Given the description of an element on the screen output the (x, y) to click on. 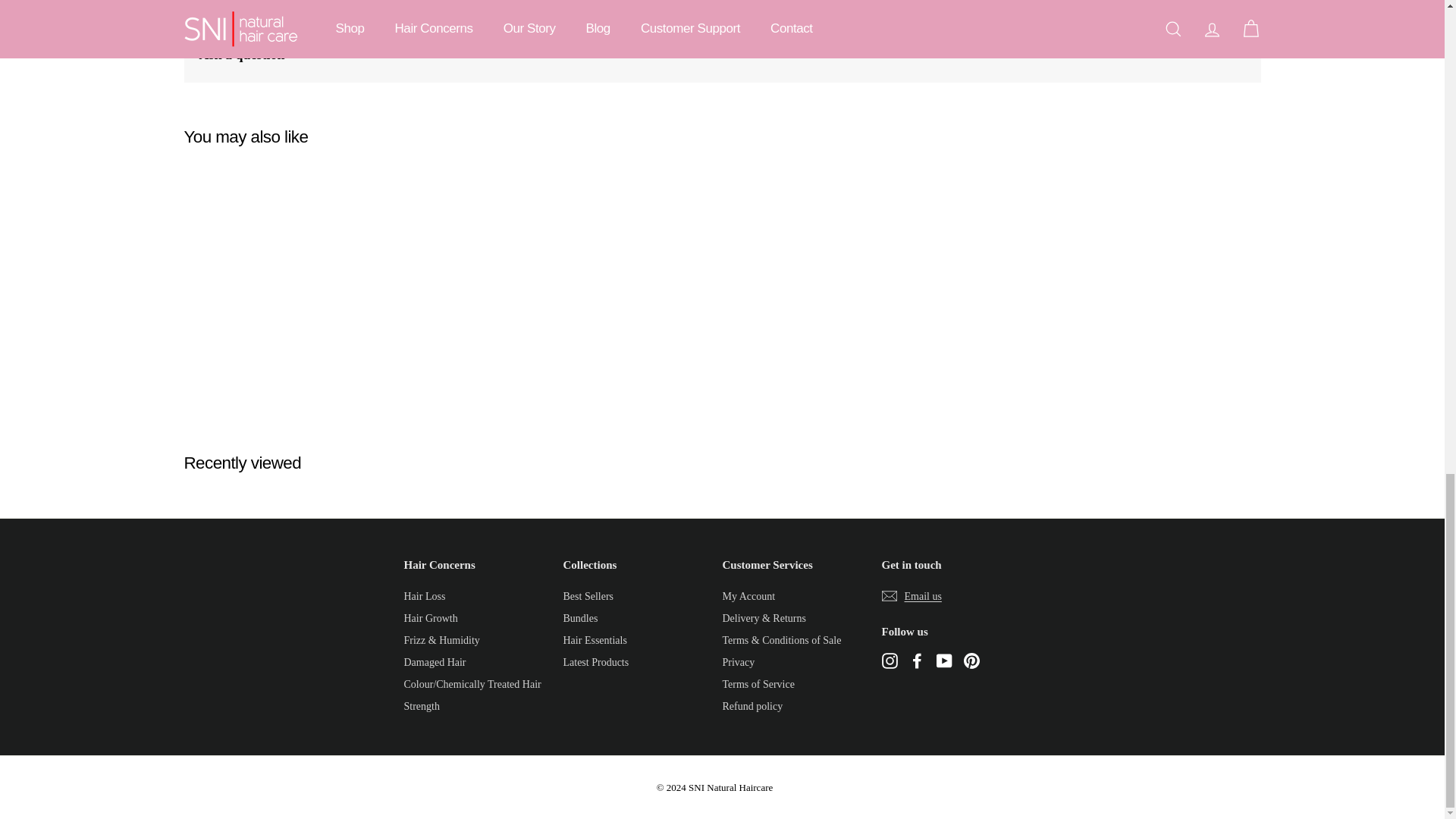
SNI Natural Haircare on Instagram (888, 660)
SNI Natural Haircare on Facebook (916, 660)
SNI Natural Haircare on YouTube (944, 660)
SNI Natural Haircare on Pinterest (970, 660)
